Given the description of an element on the screen output the (x, y) to click on. 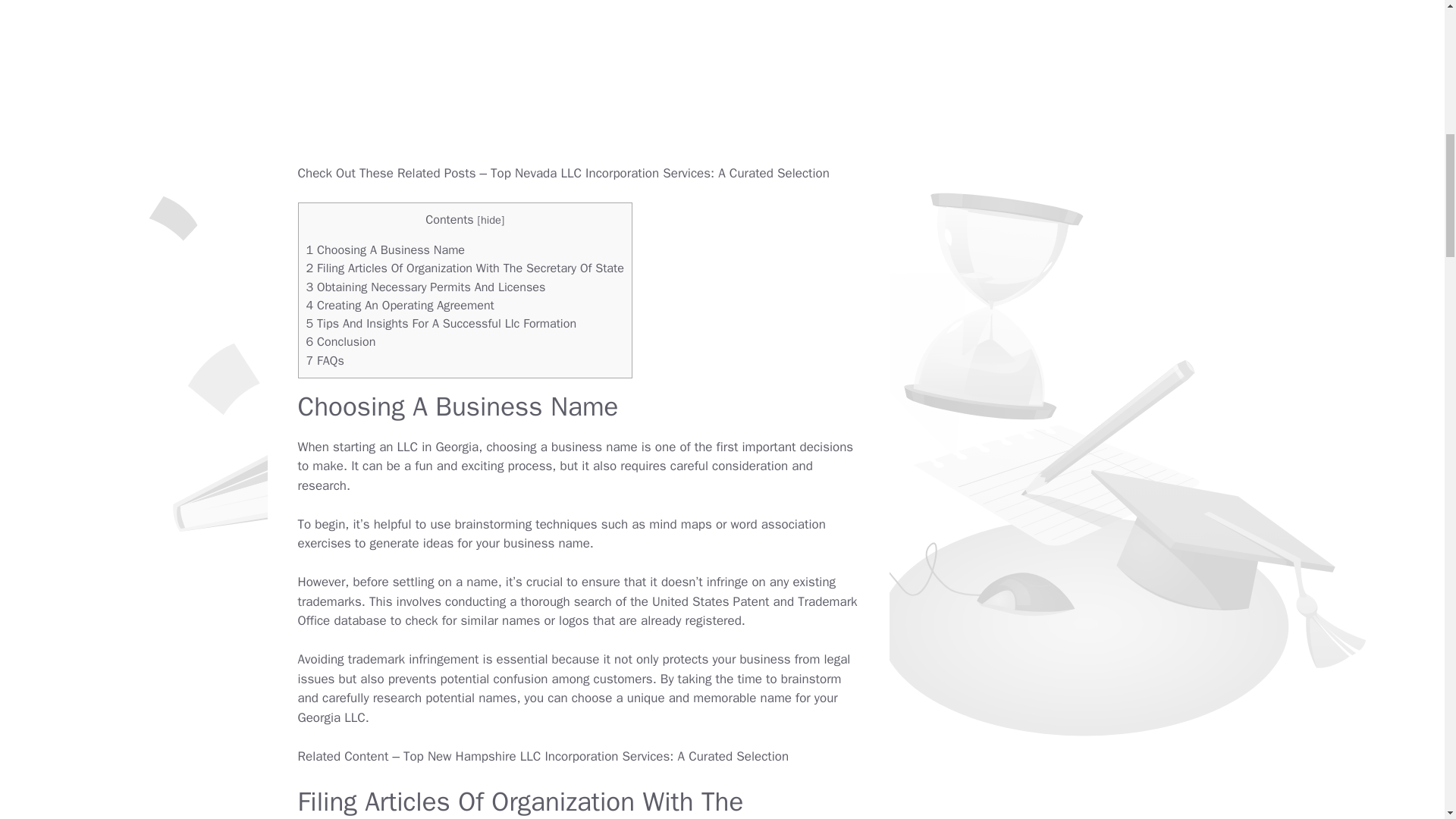
4 Creating An Operating Agreement (400, 304)
5 Tips And Insights For A Successful Llc Formation (440, 323)
Scroll back to top (1406, 720)
starting an LLC (375, 446)
6 Conclusion (340, 341)
Top Nevada LLC Incorporation Services: A Curated Selection (659, 172)
3 Obtaining Necessary Permits And Licenses (425, 286)
Most Trusted Trademark Services for US Businesses in 2023 (325, 601)
7 FAQs (324, 360)
hide (490, 219)
All You Need to Know About Getting an LLC in 2023 (375, 446)
trademark (325, 601)
1 Choosing A Business Name (385, 249)
